Given the description of an element on the screen output the (x, y) to click on. 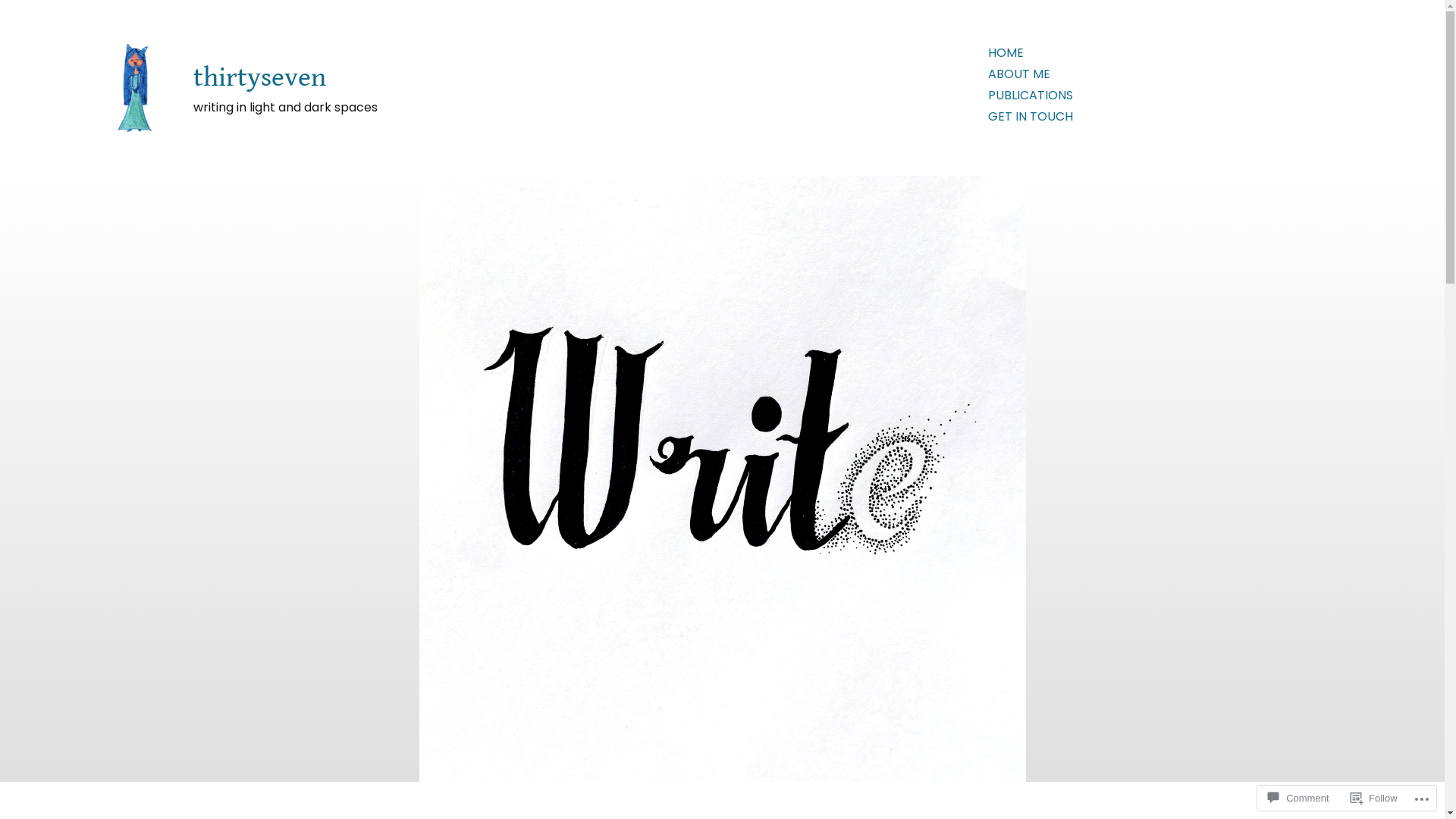
Follow Element type: text (1373, 797)
Comment Element type: text (1297, 797)
PUBLICATIONS Element type: text (1030, 95)
GET IN TOUCH Element type: text (1030, 116)
Website Powered by WordPress.com Element type: text (389, 775)
HOME Element type: text (1005, 52)
ABOUT ME Element type: text (1019, 74)
thirtyseven Element type: text (259, 78)
